Given the description of an element on the screen output the (x, y) to click on. 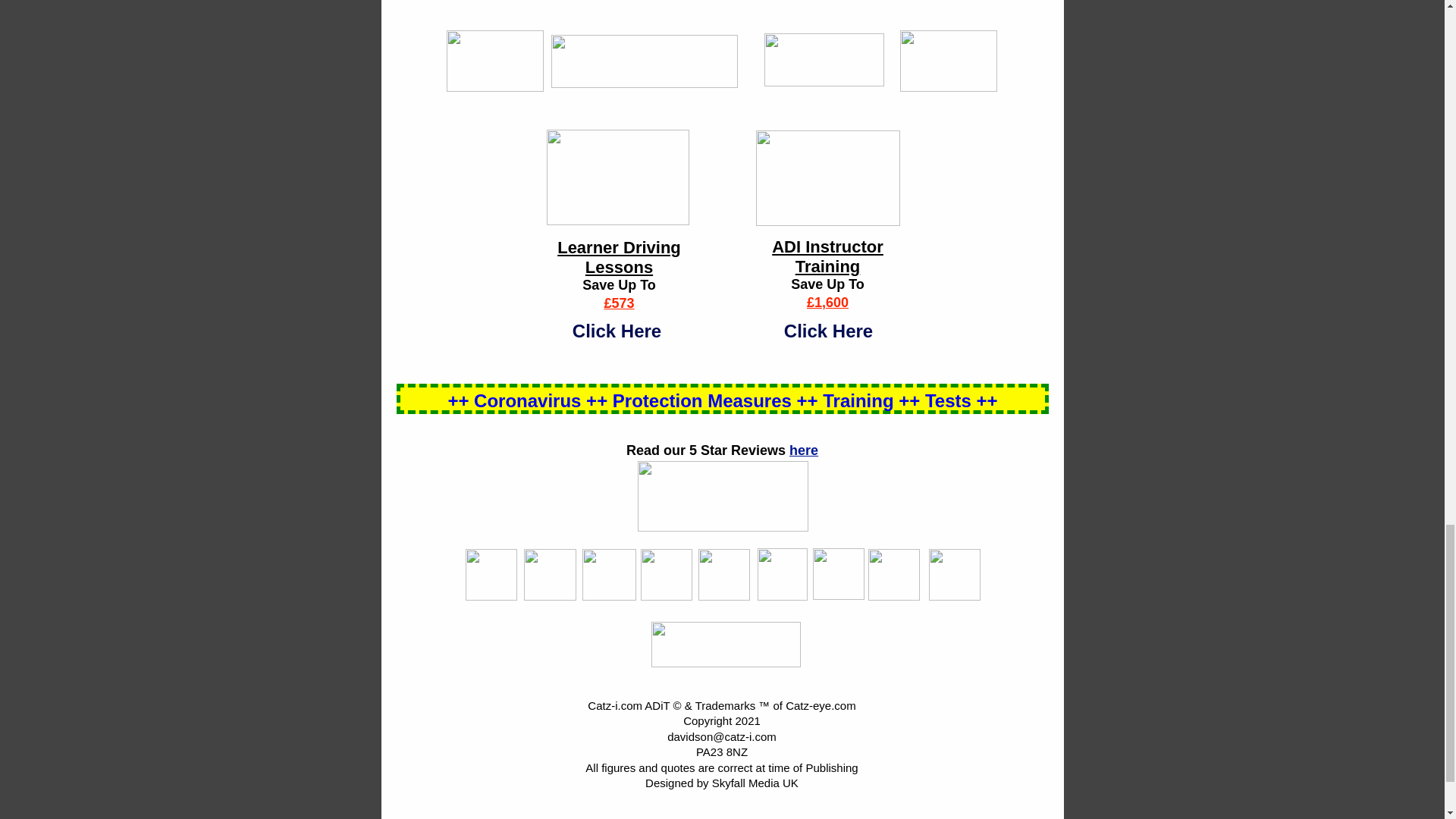
Click Here (828, 330)
here (803, 450)
Click Here (616, 330)
